Given the description of an element on the screen output the (x, y) to click on. 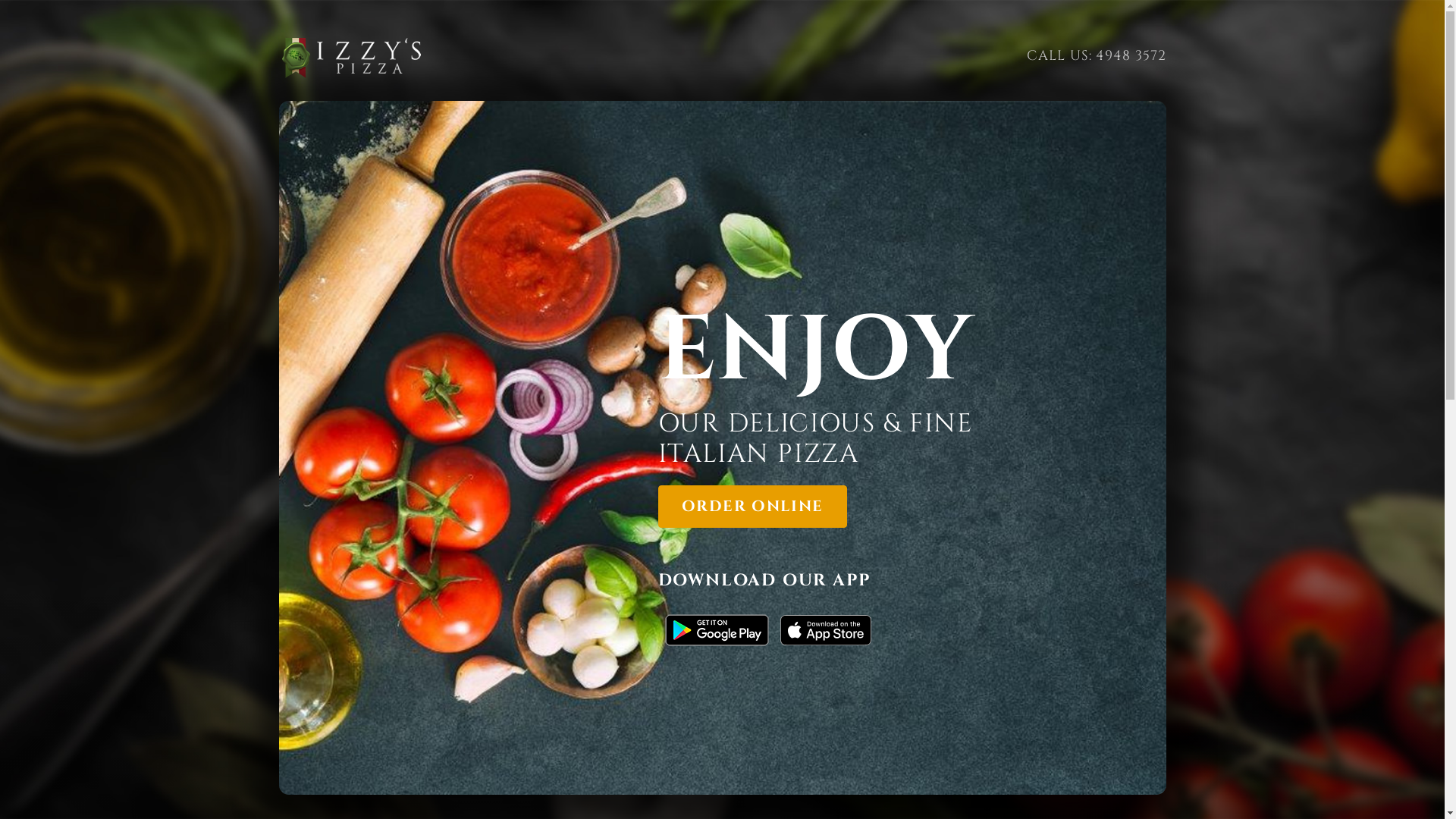
ORDER ONLINE Element type: text (752, 506)
